Given the description of an element on the screen output the (x, y) to click on. 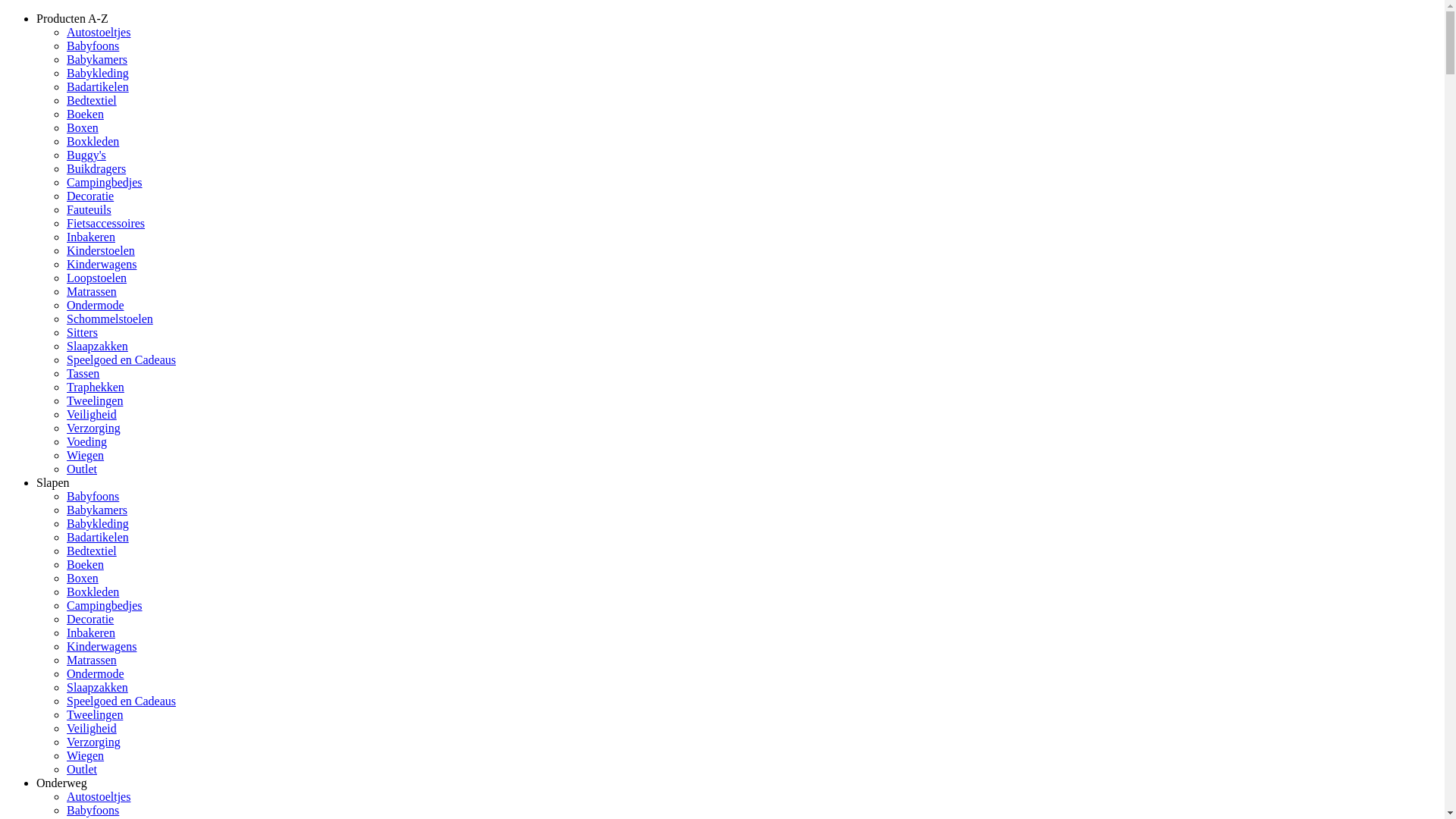
Boxkleden Element type: text (92, 140)
Kinderstoelen Element type: text (100, 250)
Badartikelen Element type: text (97, 86)
Autostoeltjes Element type: text (98, 796)
Babyfoons Element type: text (92, 495)
Speelgoed en Cadeaus Element type: text (120, 700)
Wiegen Element type: text (84, 454)
Sitters Element type: text (81, 332)
Tweelingen Element type: text (94, 400)
Fauteuils Element type: text (88, 209)
Kinderwagens Element type: text (101, 263)
Babykamers Element type: text (96, 59)
Tassen Element type: text (82, 373)
Fietsaccessoires Element type: text (105, 222)
Babykleding Element type: text (97, 523)
Matrassen Element type: text (91, 291)
Tweelingen Element type: text (94, 714)
Boxen Element type: text (82, 127)
Decoratie Element type: text (89, 618)
Babyfoons Element type: text (92, 809)
Schommelstoelen Element type: text (109, 318)
Babyfoons Element type: text (92, 45)
Verzorging Element type: text (93, 741)
Decoratie Element type: text (89, 195)
Campingbedjes Element type: text (104, 605)
Bedtextiel Element type: text (91, 100)
Boxen Element type: text (82, 577)
Speelgoed en Cadeaus Element type: text (120, 359)
Buikdragers Element type: text (95, 168)
Babykamers Element type: text (96, 509)
Kinderwagens Element type: text (101, 646)
Ondermode Element type: text (95, 673)
Boxkleden Element type: text (92, 591)
Inbakeren Element type: text (90, 236)
Wiegen Element type: text (84, 755)
Autostoeltjes Element type: text (98, 31)
Boeken Element type: text (84, 564)
Boeken Element type: text (84, 113)
Ondermode Element type: text (95, 304)
Slaapzakken Element type: text (97, 345)
Outlet Element type: text (81, 468)
Inbakeren Element type: text (90, 632)
Outlet Element type: text (81, 768)
Babykleding Element type: text (97, 72)
Bedtextiel Element type: text (91, 550)
Campingbedjes Element type: text (104, 181)
Voeding Element type: text (86, 441)
Slaapzakken Element type: text (97, 686)
Loopstoelen Element type: text (96, 277)
Matrassen Element type: text (91, 659)
Buggy's Element type: text (86, 154)
Badartikelen Element type: text (97, 536)
Veiligheid Element type: text (91, 413)
Veiligheid Element type: text (91, 727)
Verzorging Element type: text (93, 427)
Traphekken Element type: text (95, 386)
